Given the description of an element on the screen output the (x, y) to click on. 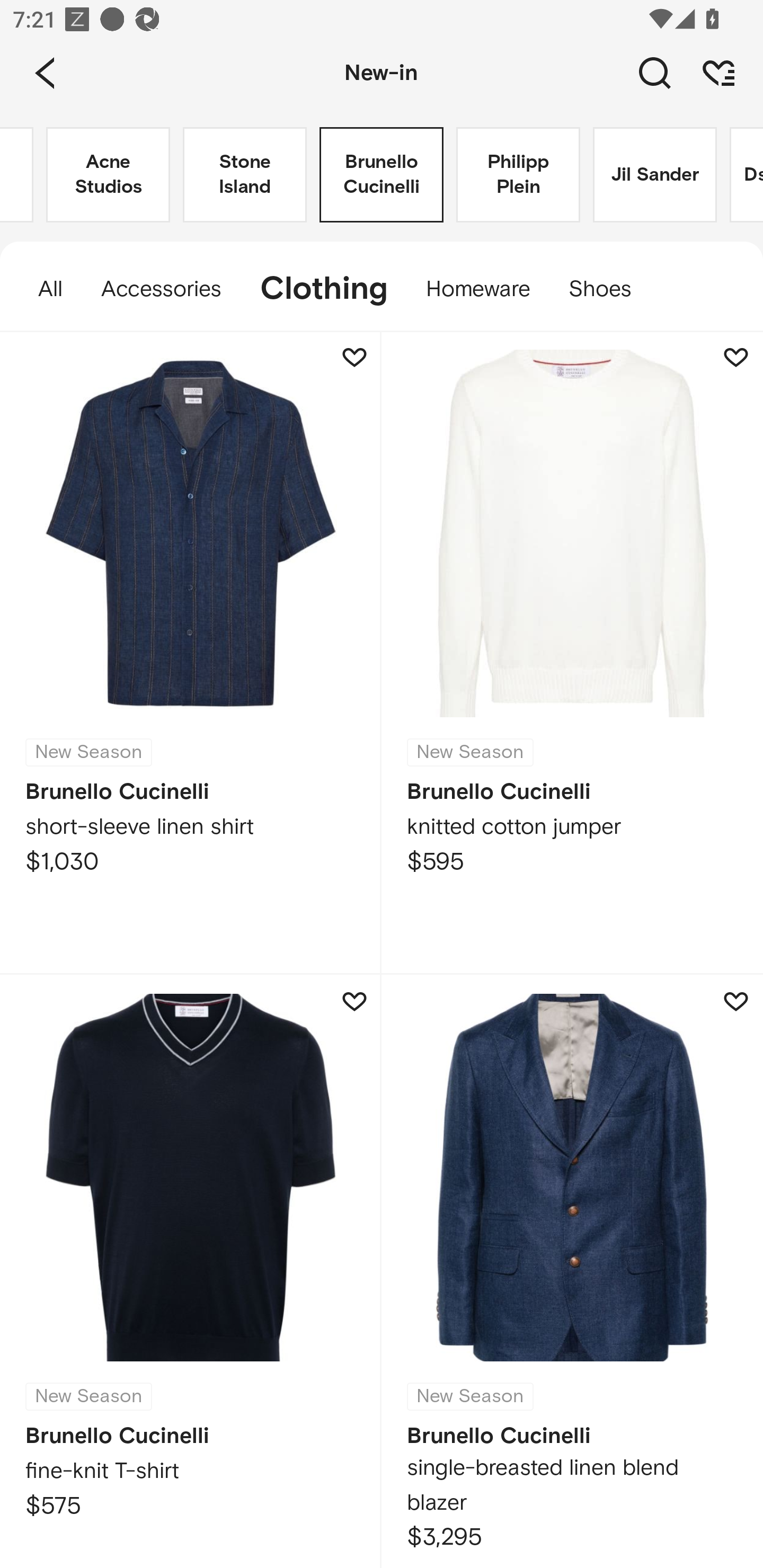
Acne Studios (107, 174)
Stone Island (244, 174)
Brunello Cucinelli (381, 174)
Philipp Plein (517, 174)
Jil Sander (654, 174)
All (40, 288)
Accessories (160, 288)
Clothing (323, 288)
Homeware (477, 288)
Shoes (609, 288)
